Given the description of an element on the screen output the (x, y) to click on. 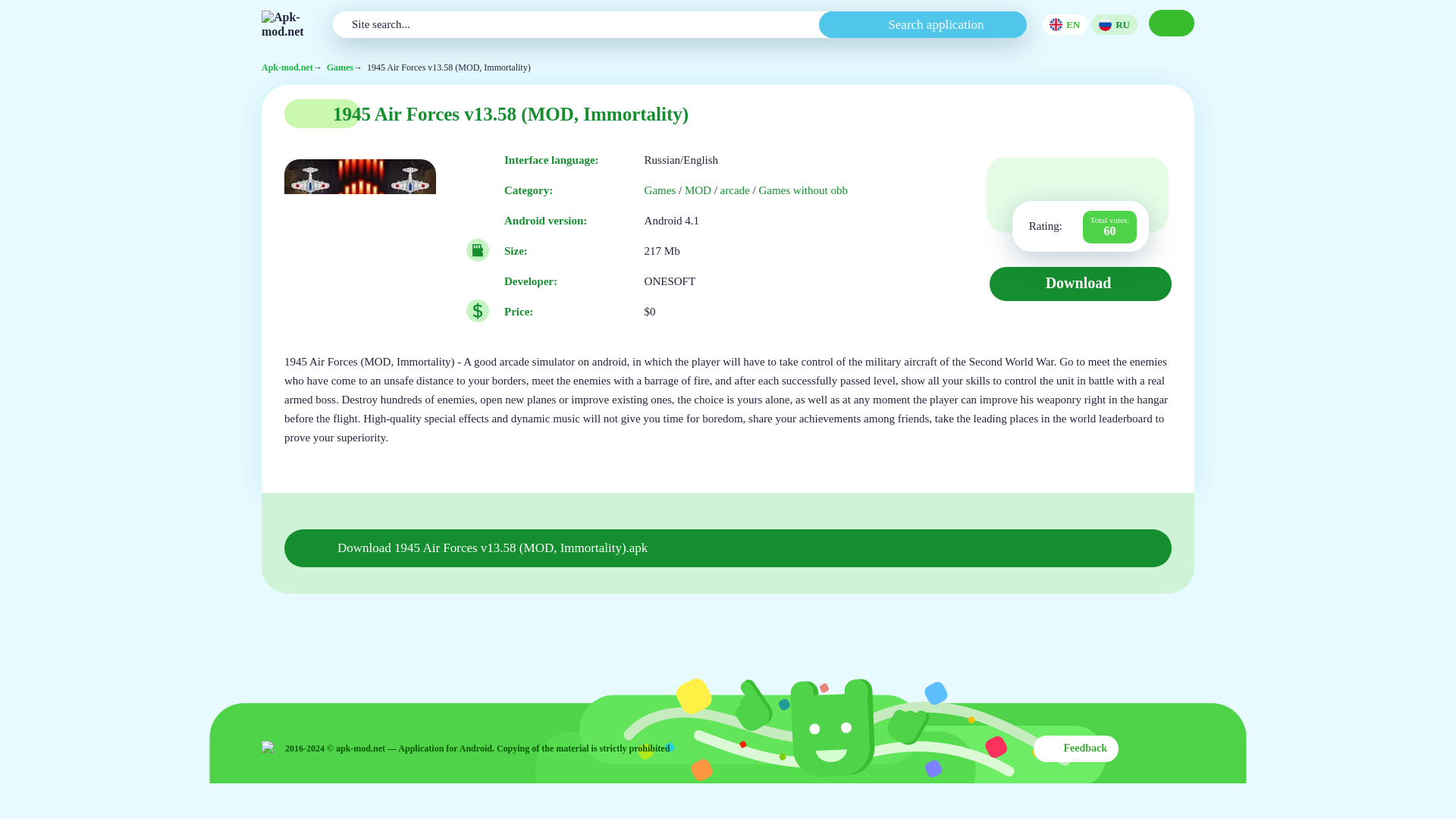
MOD (697, 190)
Poor (1052, 181)
EN (1064, 24)
3 (1078, 181)
Useless (1025, 181)
4 (1105, 181)
Search application (922, 24)
Good (1105, 181)
2 (1052, 181)
Games (339, 68)
